Given the description of an element on the screen output the (x, y) to click on. 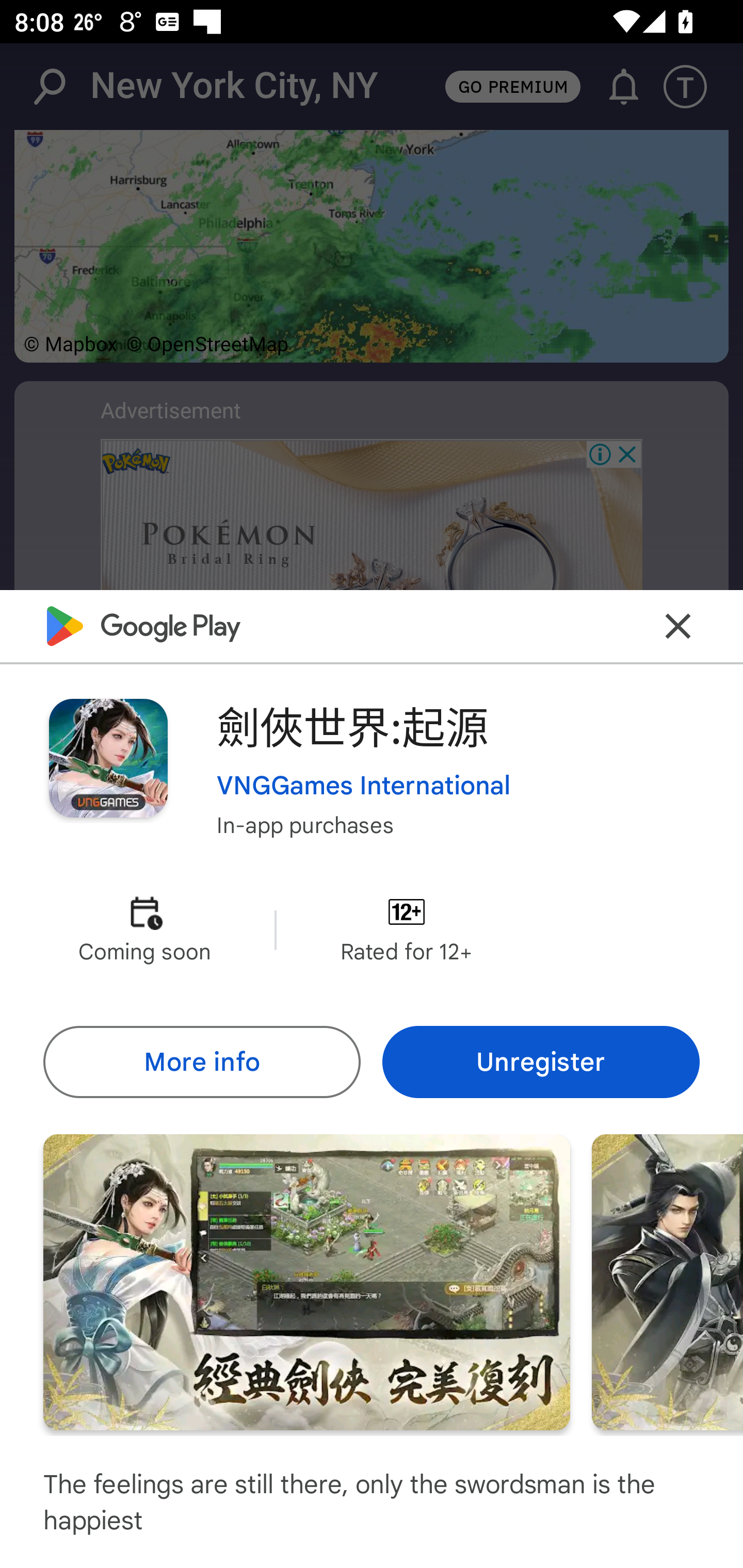
Close (677, 625)
Image of app or game icon for 劍俠世界:起源 (108, 758)
VNGGames International (363, 784)
More info (201, 1061)
Unregister (540, 1061)
Screenshot "1" of "5" (306, 1281)
Screenshot "2" of "5" (667, 1281)
